Given the description of an element on the screen output the (x, y) to click on. 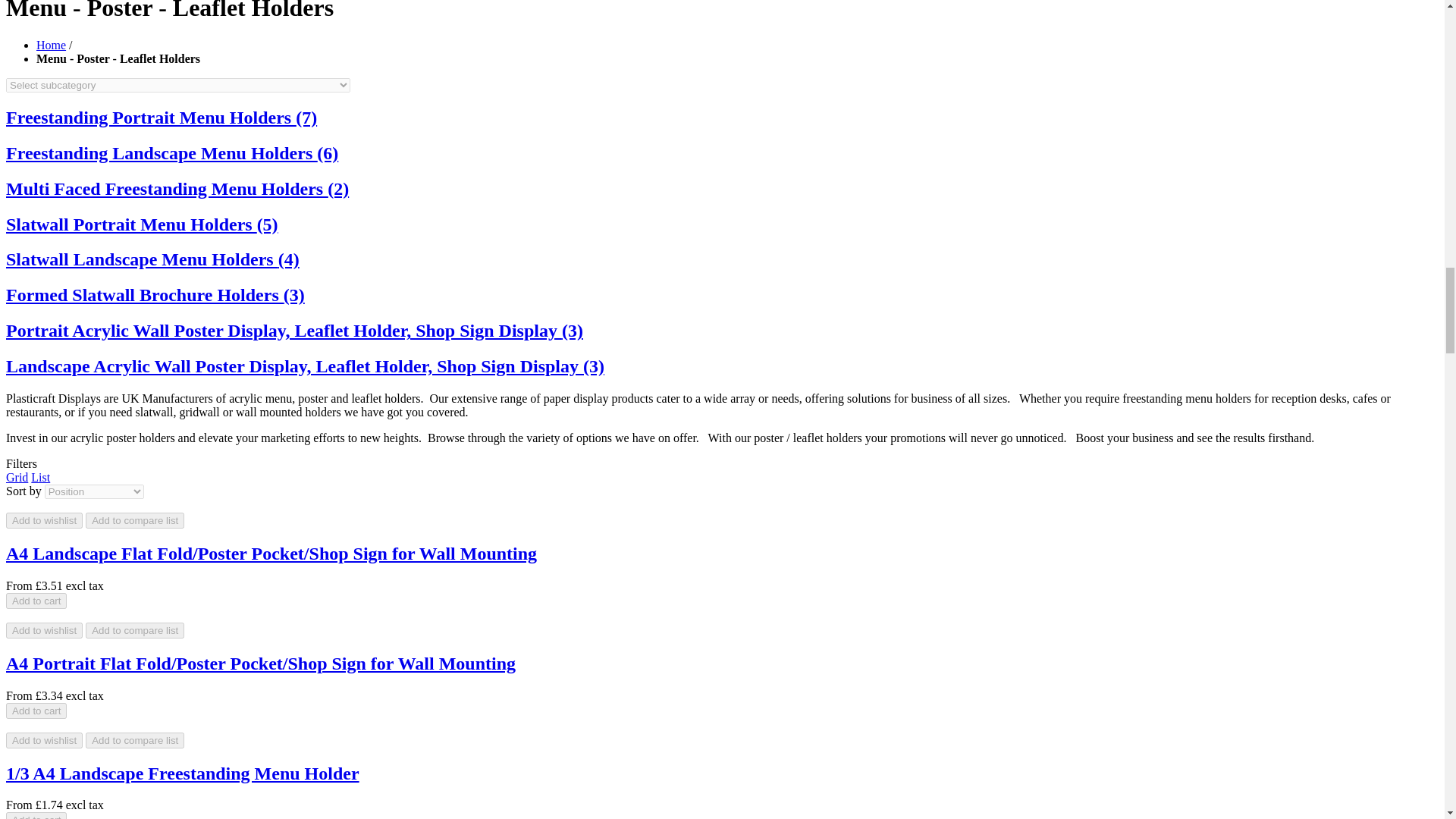
Add to wishlist (43, 520)
Add to cart (35, 600)
Home (50, 44)
Add to compare list (134, 520)
Show products in category Formed Slatwall Brochure Holders (154, 294)
Grid (16, 477)
Add to cart (35, 710)
Add to cart (35, 815)
